Given the description of an element on the screen output the (x, y) to click on. 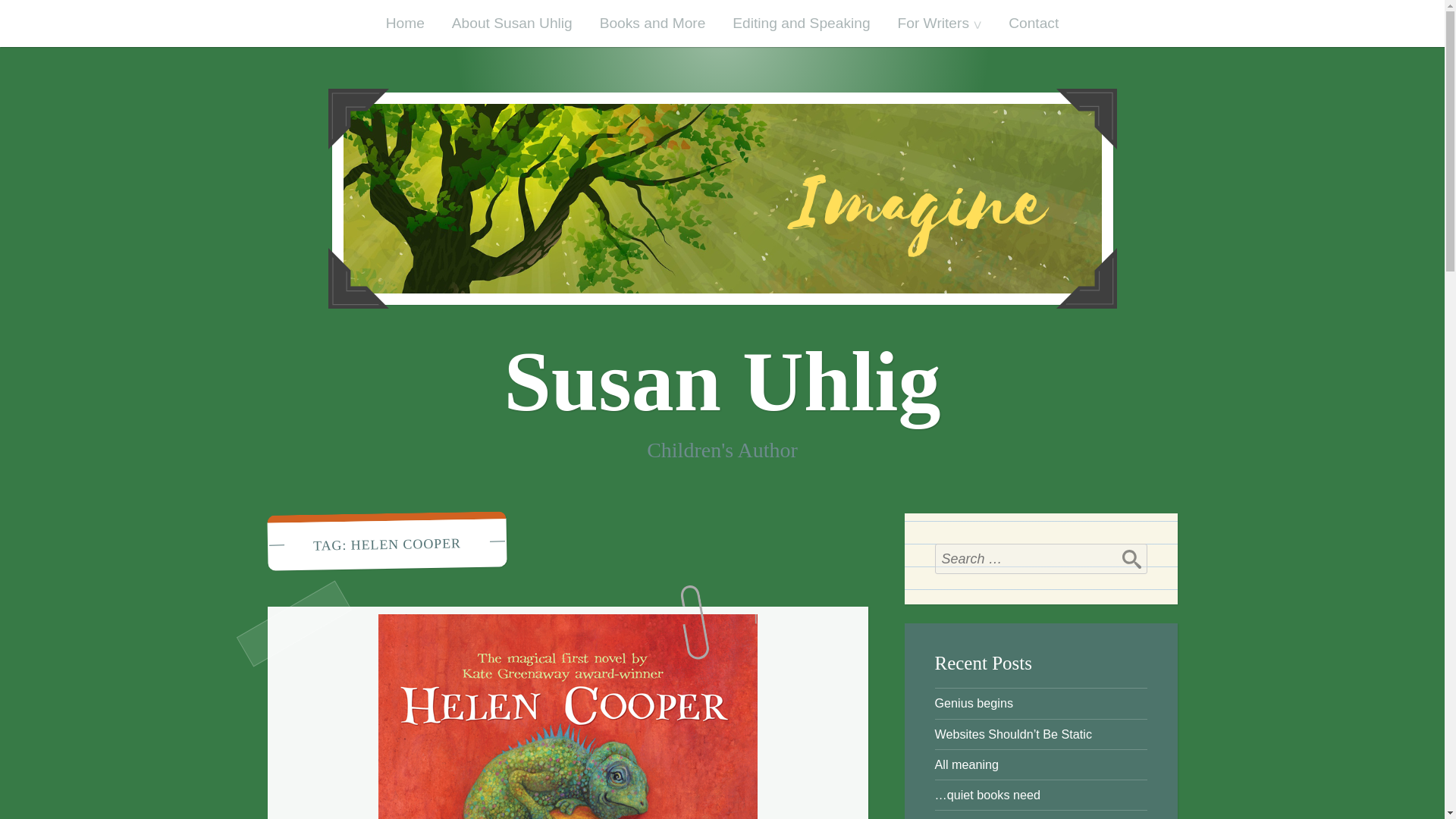
About Susan Uhlig (512, 23)
Home (405, 23)
Search (1131, 558)
All meaning (966, 764)
Search (1131, 558)
Contact (1032, 23)
Editing and Speaking (801, 23)
Search (1131, 558)
Susan Uhlig (721, 381)
For Writers (939, 23)
Genius begins (973, 703)
Hot Dog (956, 818)
Books and More (652, 23)
